Given the description of an element on the screen output the (x, y) to click on. 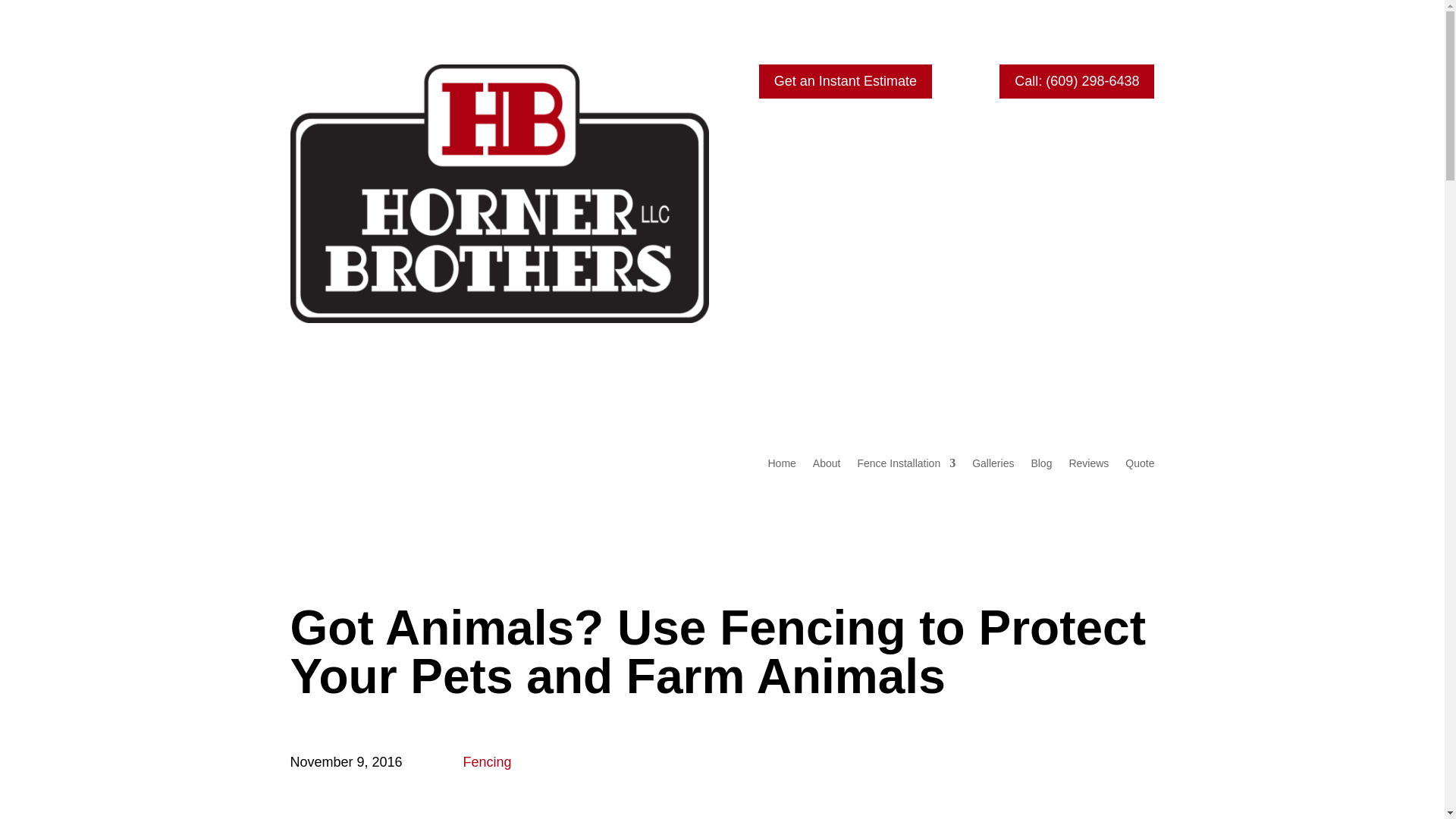
Quote (1139, 466)
Galleries (992, 466)
Blog (1040, 466)
Get an Instant Estimate (844, 81)
Fence Installation (906, 466)
Reviews (1088, 466)
Home (780, 466)
About (826, 466)
Horner Brothers Fence Logo (499, 193)
Fencing (487, 761)
